Given the description of an element on the screen output the (x, y) to click on. 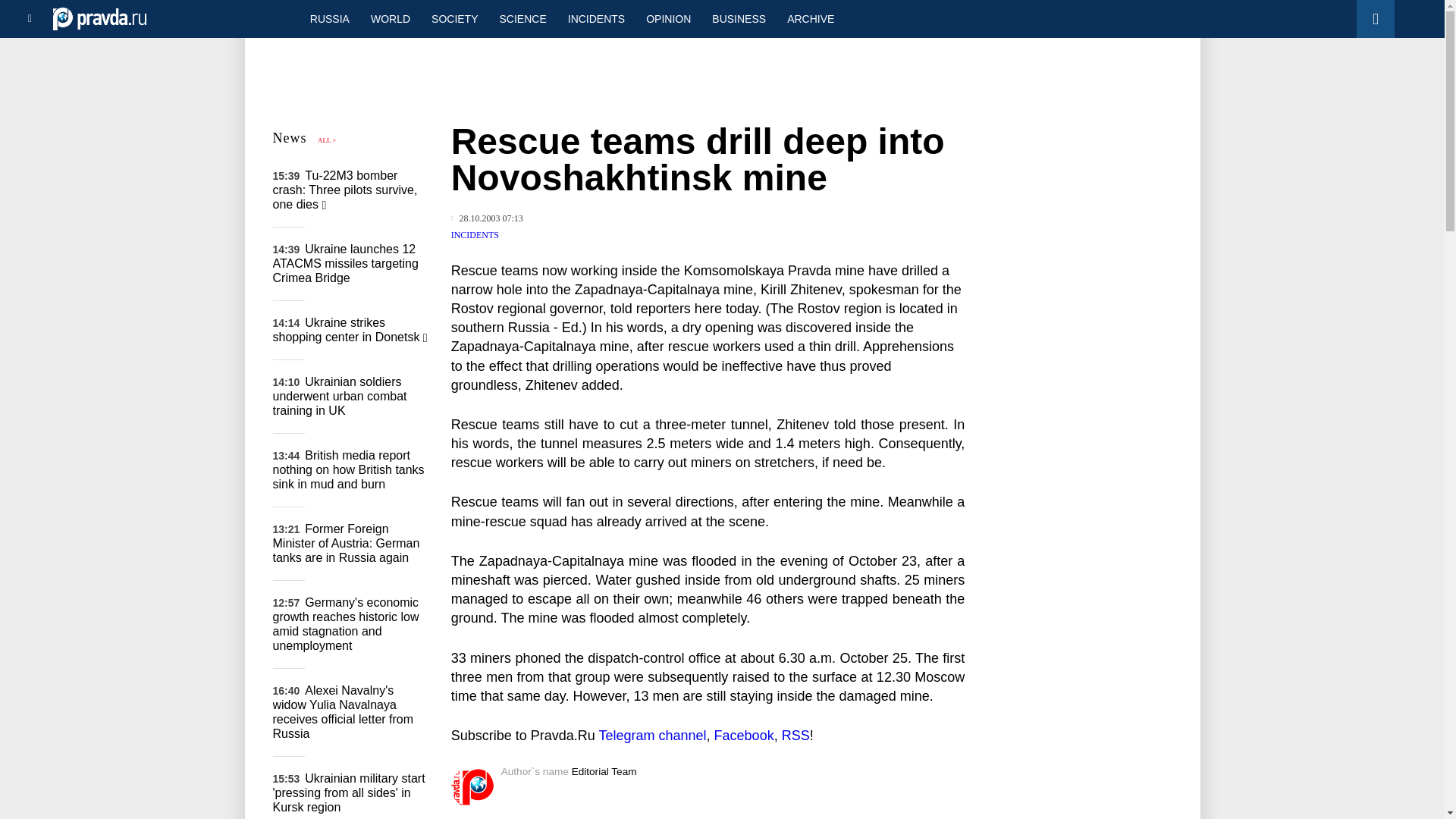
Telegram channel (652, 735)
RSS (795, 735)
Tu-22M3 bomber crash: Three pilots survive, one dies (345, 189)
Facebook (744, 735)
OPINION (667, 18)
ARCHIVE (810, 18)
WORLD (389, 18)
BUSINESS (738, 18)
Ukraine strikes shopping center in Donetsk (350, 329)
